Given the description of an element on the screen output the (x, y) to click on. 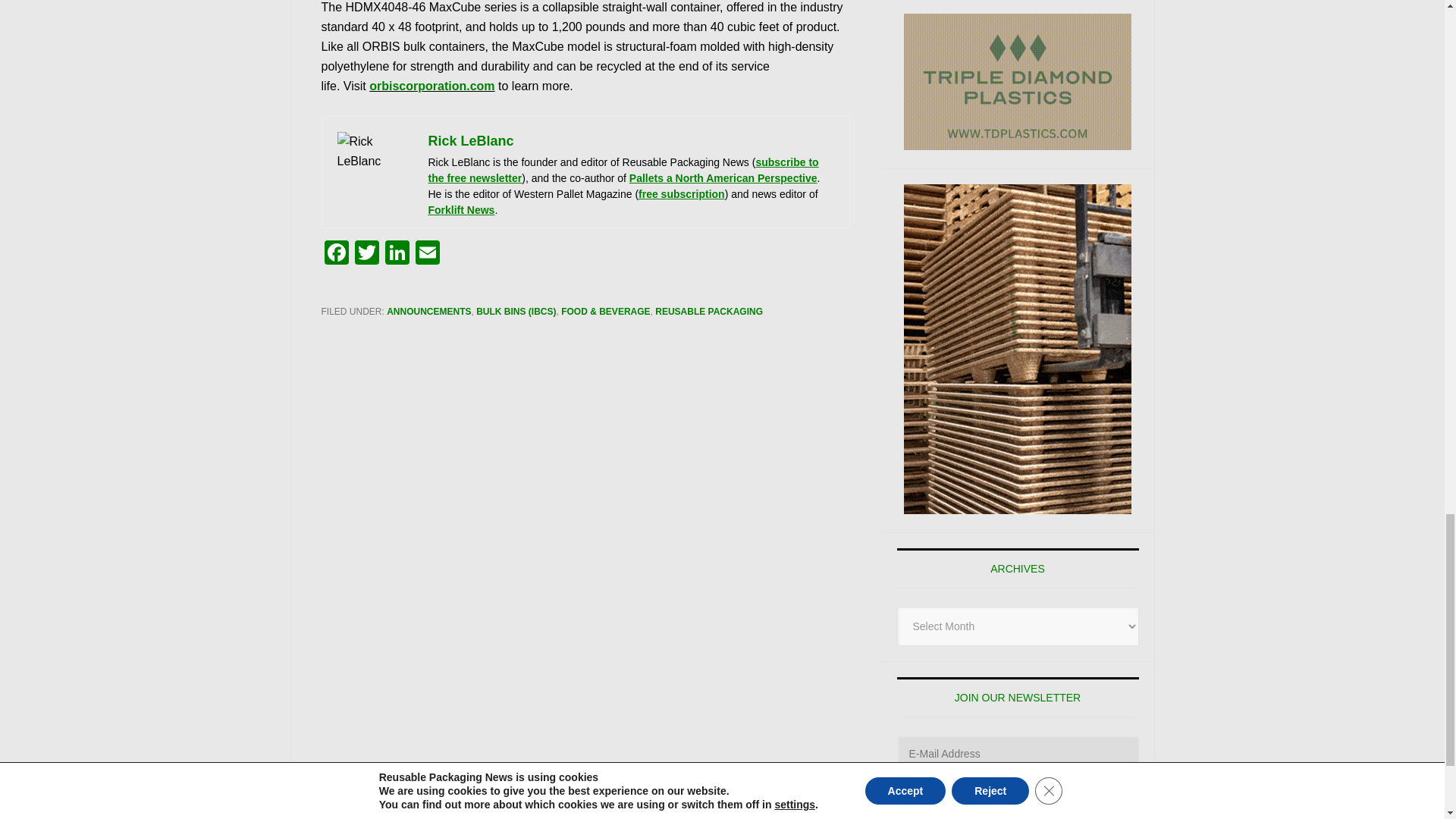
Email (427, 254)
Facebook (336, 254)
LinkedIn (396, 254)
Email (427, 254)
Pallets a North American Perspective (722, 177)
Rick LeBlanc (470, 140)
Litco.com (1017, 349)
orbiscorporation.com (432, 85)
LinkedIn (396, 254)
Forklift News (461, 209)
subscribe to the free newsletter (623, 170)
free subscription (682, 193)
Triple Diamond Plastics (1017, 81)
Facebook (336, 254)
